Given the description of an element on the screen output the (x, y) to click on. 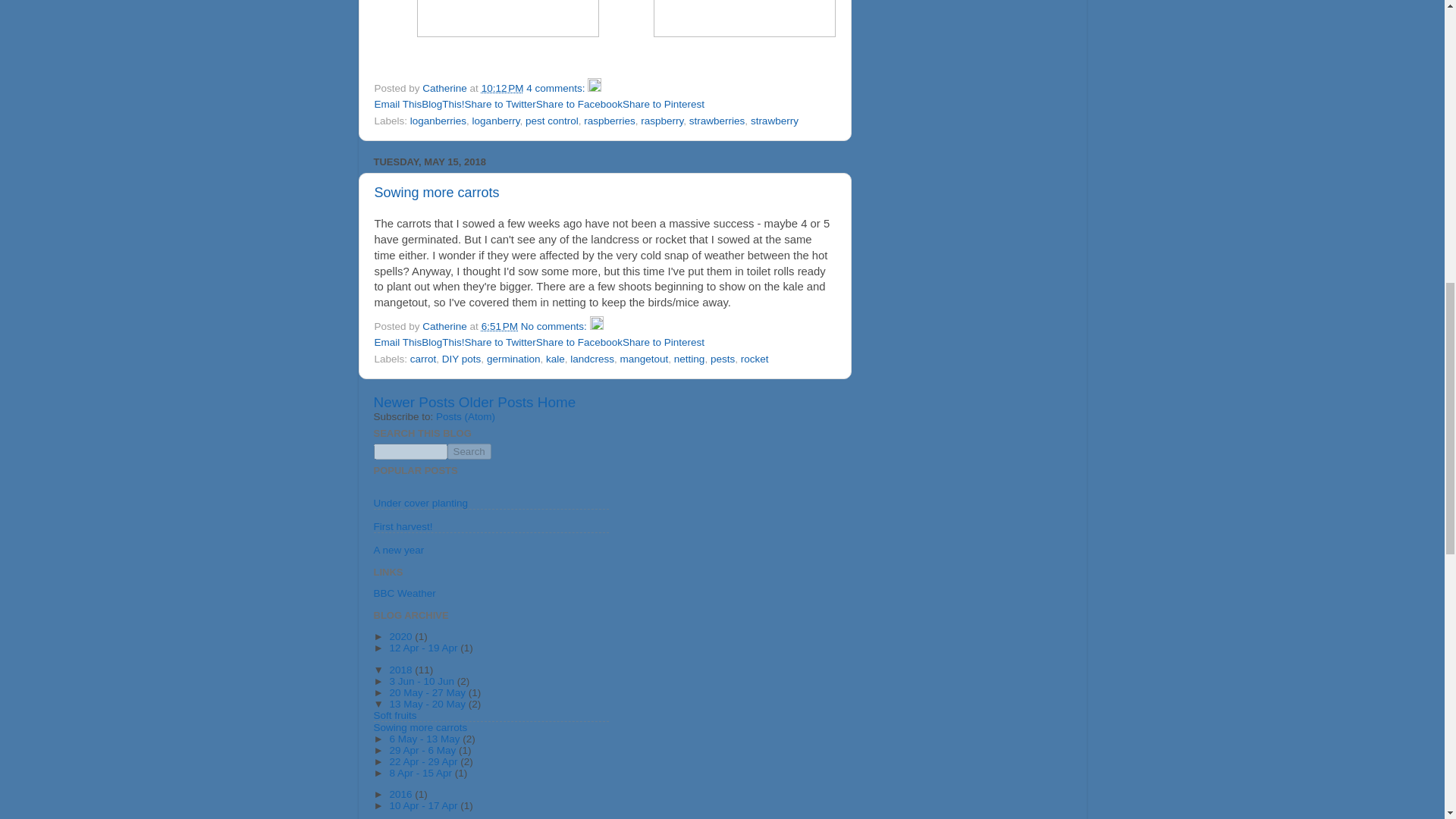
Search (469, 451)
BlogThis! (443, 342)
permanent link (499, 326)
Share to Pinterest (663, 342)
author profile (445, 326)
raspberry (661, 120)
Email This (398, 103)
kale (555, 358)
strawberries (716, 120)
Email This (398, 103)
raspberries (608, 120)
Catherine (445, 88)
Sowing more carrots (436, 192)
Edit Post (596, 326)
BlogThis! (443, 103)
